Given the description of an element on the screen output the (x, y) to click on. 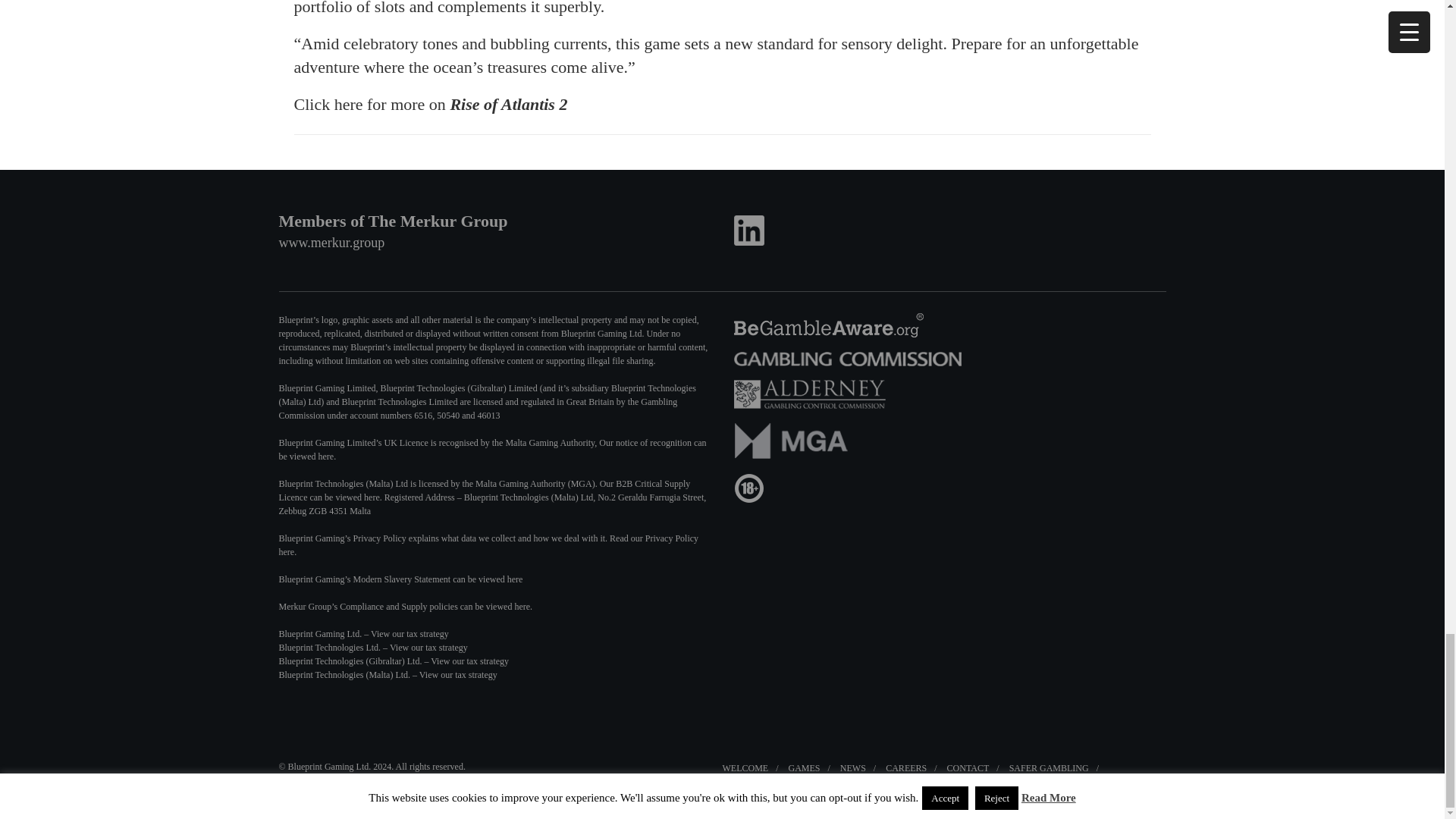
View our tax strategy (428, 647)
CAREERS (905, 767)
can be viewed here. (496, 606)
WELCOME (745, 767)
View our tax strategy (458, 674)
View our tax strategy (409, 633)
View our tax strategy (469, 661)
NEWS (853, 767)
50540 (446, 415)
SAFER GAMBLING (1049, 767)
Our notice of recognition can be viewed here. (492, 449)
Read our Privacy Policy here. (488, 545)
can be viewed here (487, 579)
www.merkur.group (332, 242)
CONTACT (968, 767)
